Given the description of an element on the screen output the (x, y) to click on. 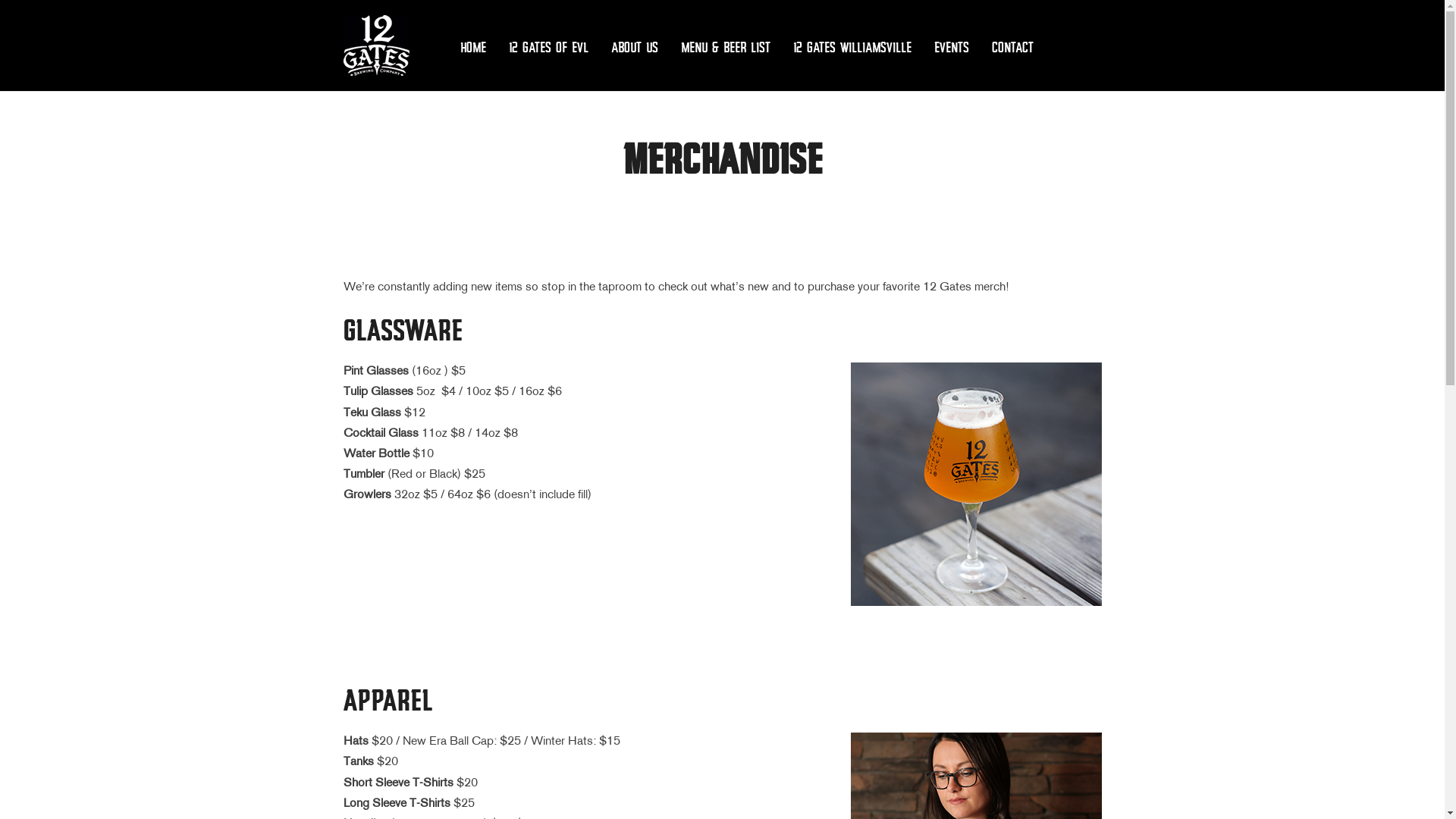
ABOUT US Element type: text (634, 46)
HOME Element type: text (472, 46)
MENU & BEER LIST Element type: text (725, 46)
12 GATES OF EVL Element type: text (547, 46)
EVENTS Element type: text (951, 46)
